Given the description of an element on the screen output the (x, y) to click on. 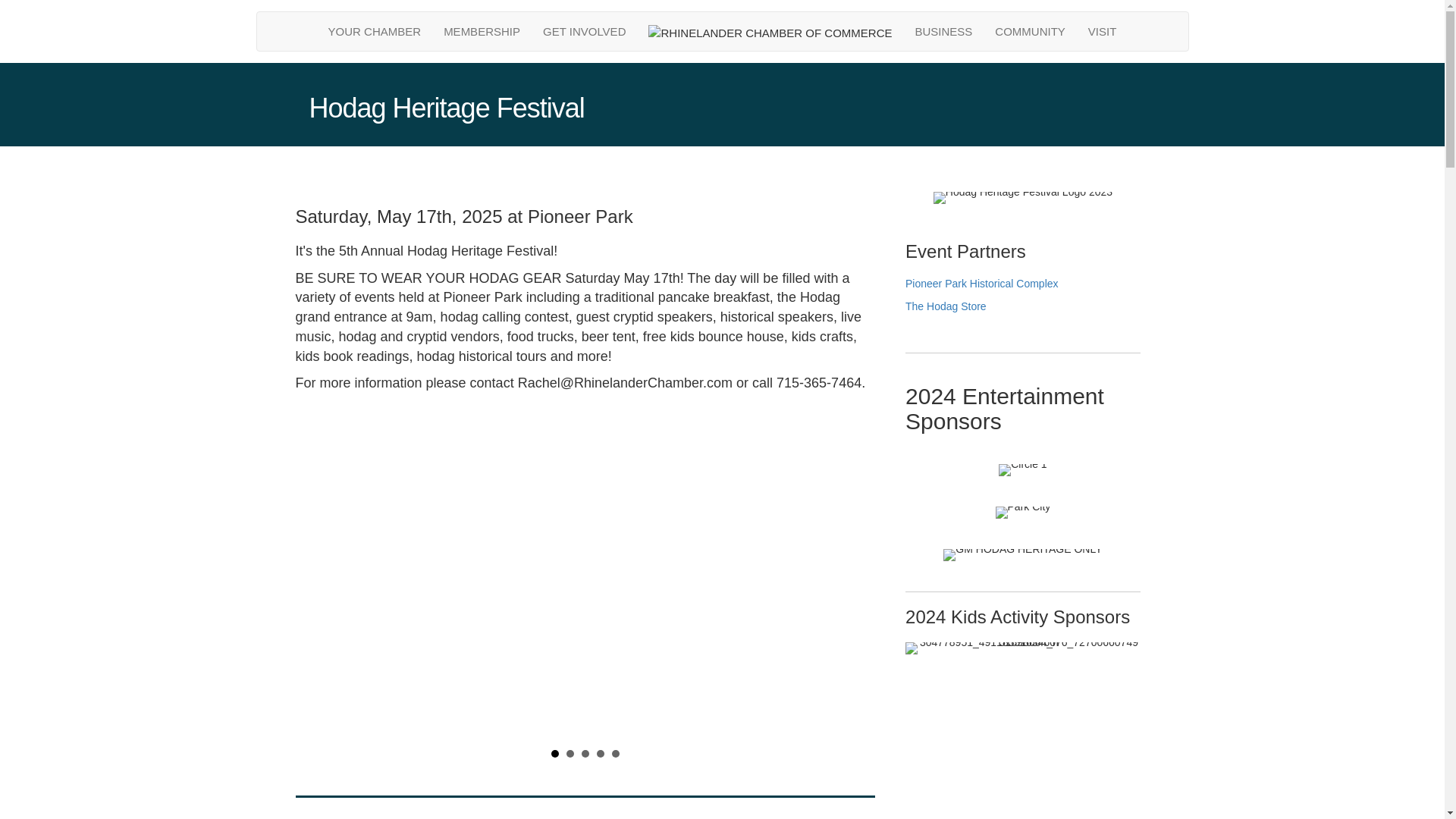
Circle 1 (1022, 469)
YOUR CHAMBER (374, 31)
GM HODAG HERITAGE ONLY (1022, 554)
Park City (1023, 512)
Hodag Heritage Festival Logo 2023 (1022, 197)
